Given the description of an element on the screen output the (x, y) to click on. 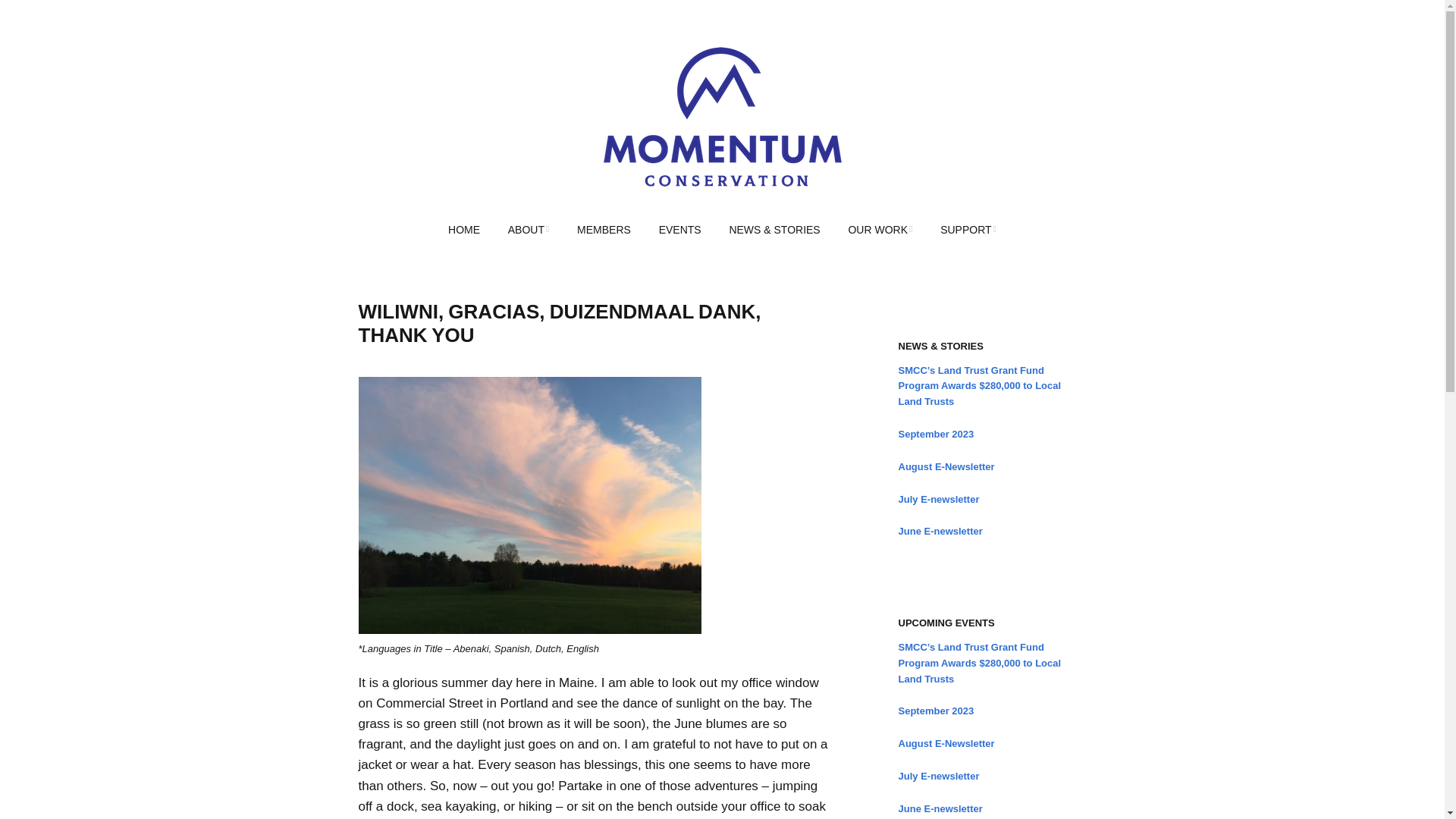
SUPPORT (968, 230)
MEMBERS (603, 230)
ABOUT (529, 230)
OUR WORK (879, 230)
HOME (463, 230)
EVENTS (679, 230)
